Given the description of an element on the screen output the (x, y) to click on. 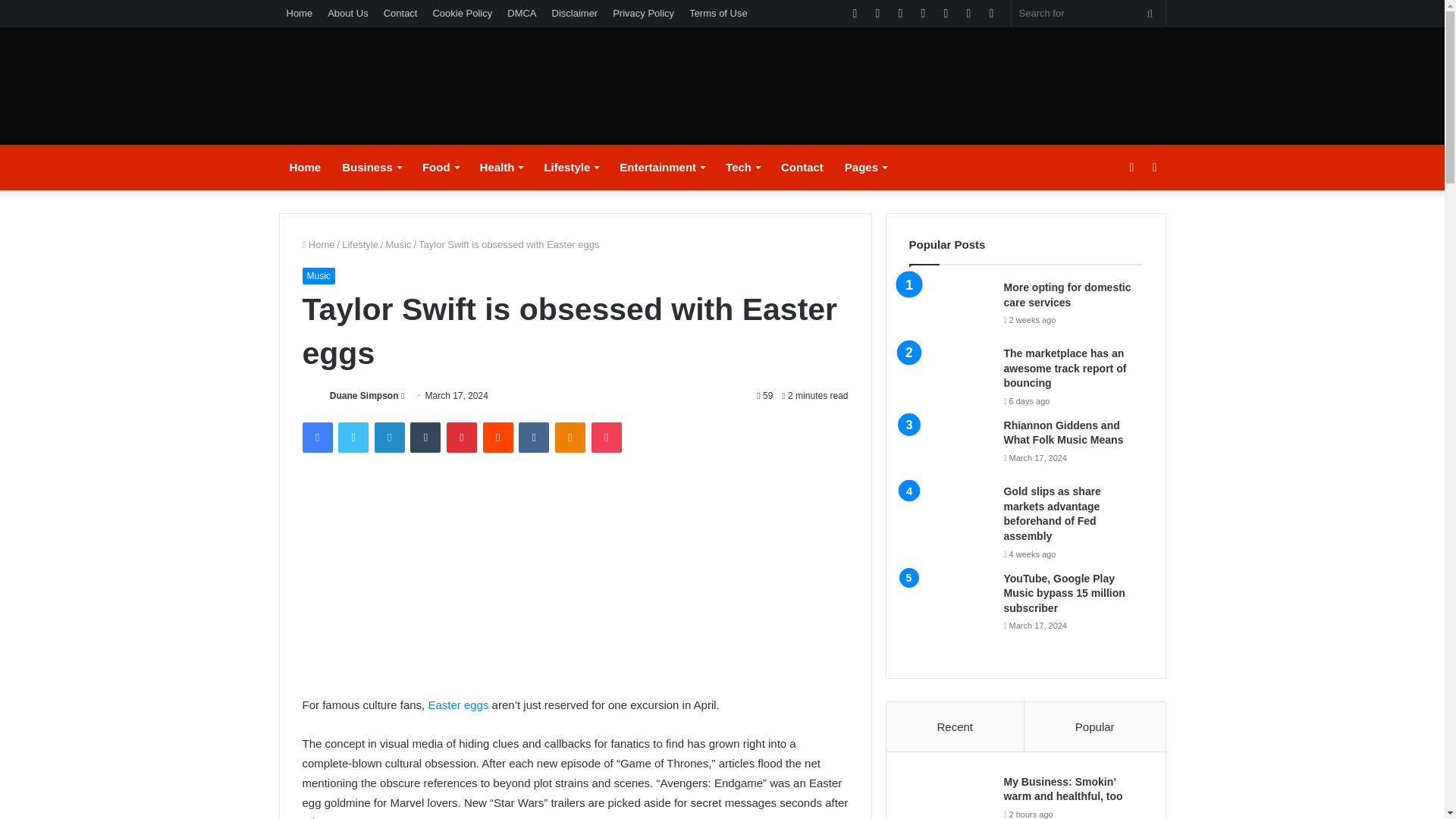
Odnoklassniki (569, 437)
Reddit (498, 437)
Health (501, 167)
LinkedIn (389, 437)
Search for (1150, 13)
DMCA (521, 13)
Home (299, 13)
Duane Simpson (364, 395)
VKontakte (533, 437)
Home (305, 167)
